Given the description of an element on the screen output the (x, y) to click on. 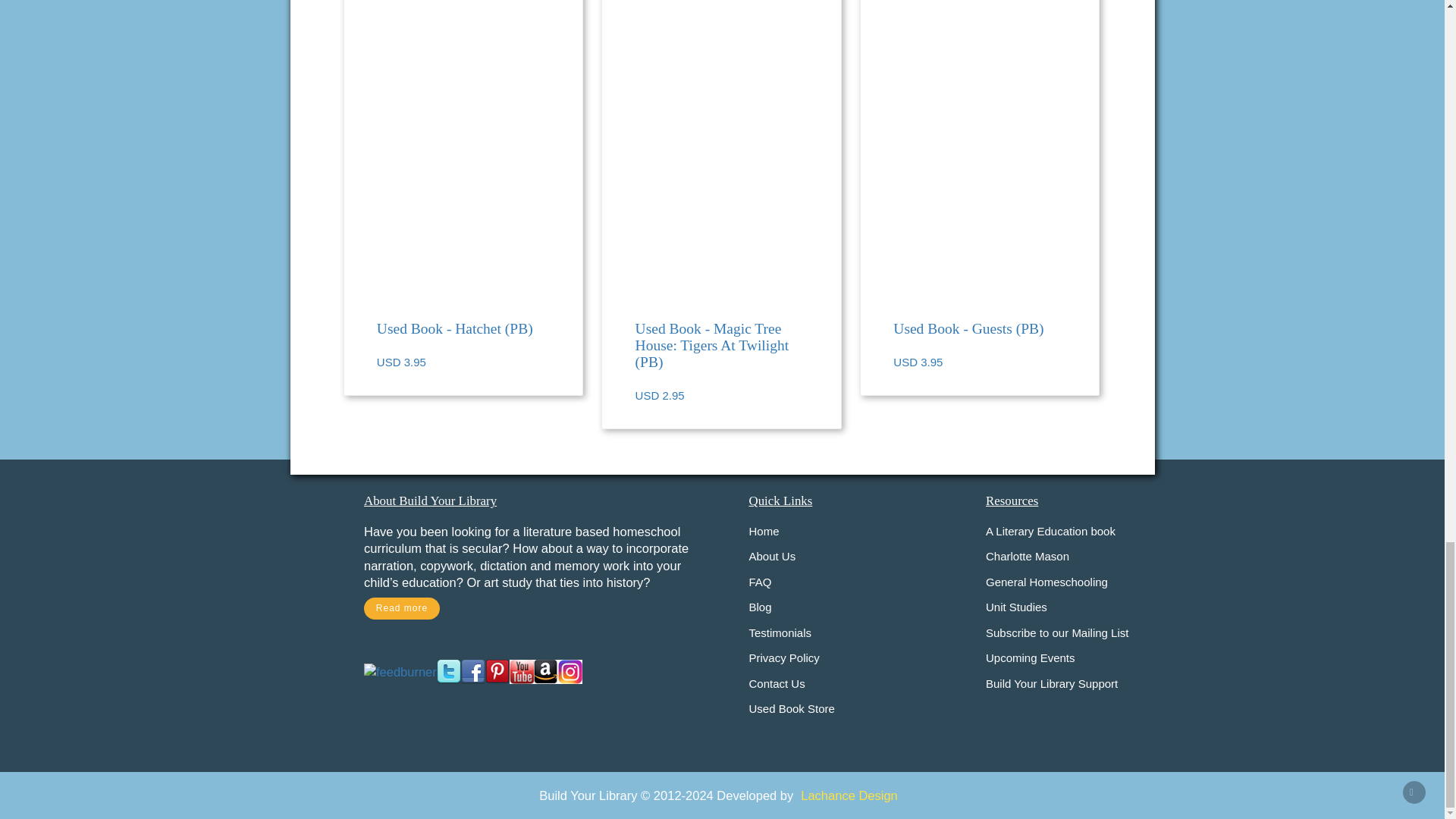
Follow us on Instagram (569, 670)
Follow us on Twitter (448, 670)
Check us out on Pinterest (496, 670)
Subscribe to my feed (400, 670)
Like us on Facebook (472, 670)
Subscribe to us on YouTube (521, 670)
